Given the description of an element on the screen output the (x, y) to click on. 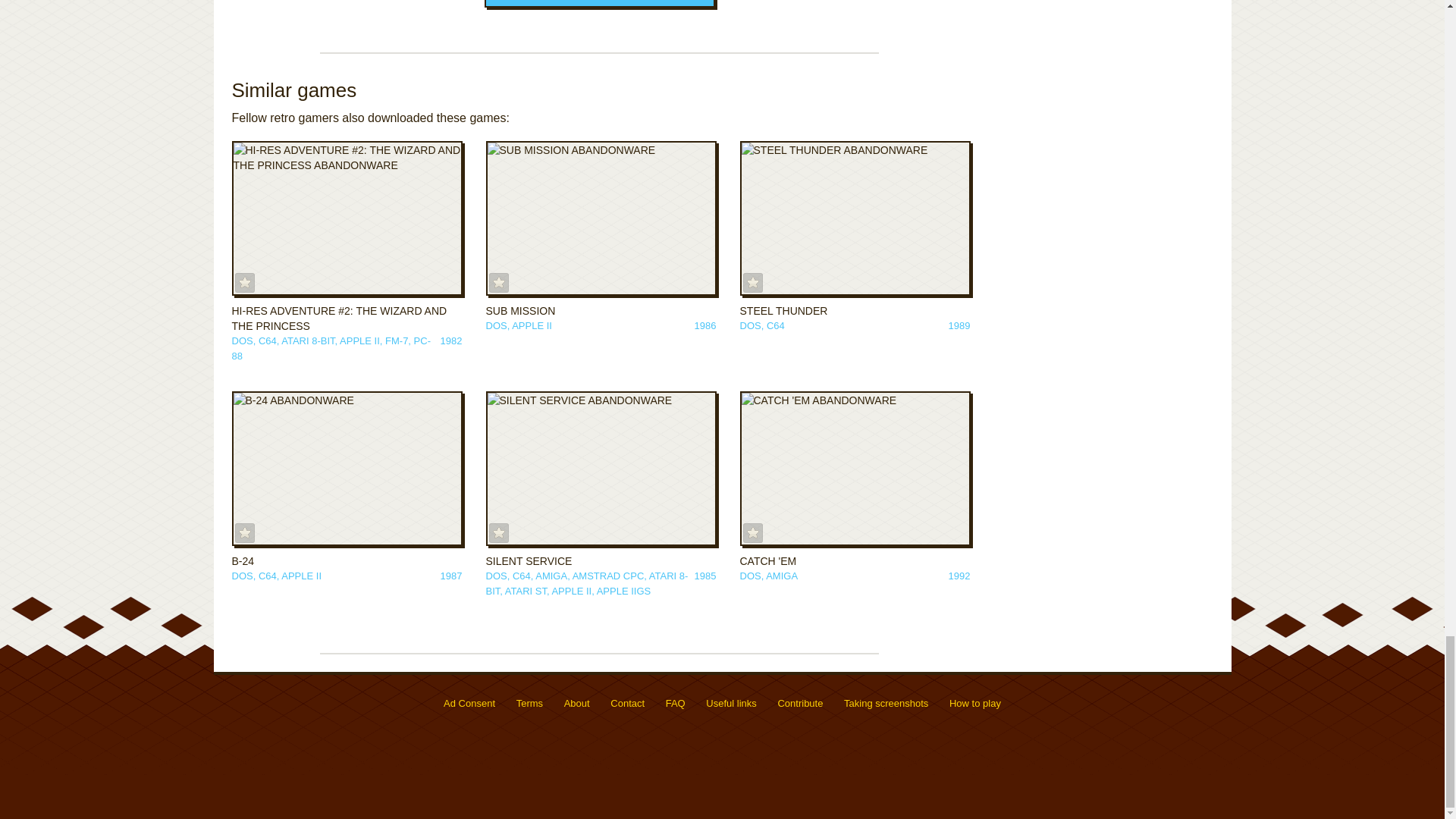
Visit utopiaweb website (1183, 706)
